Given the description of an element on the screen output the (x, y) to click on. 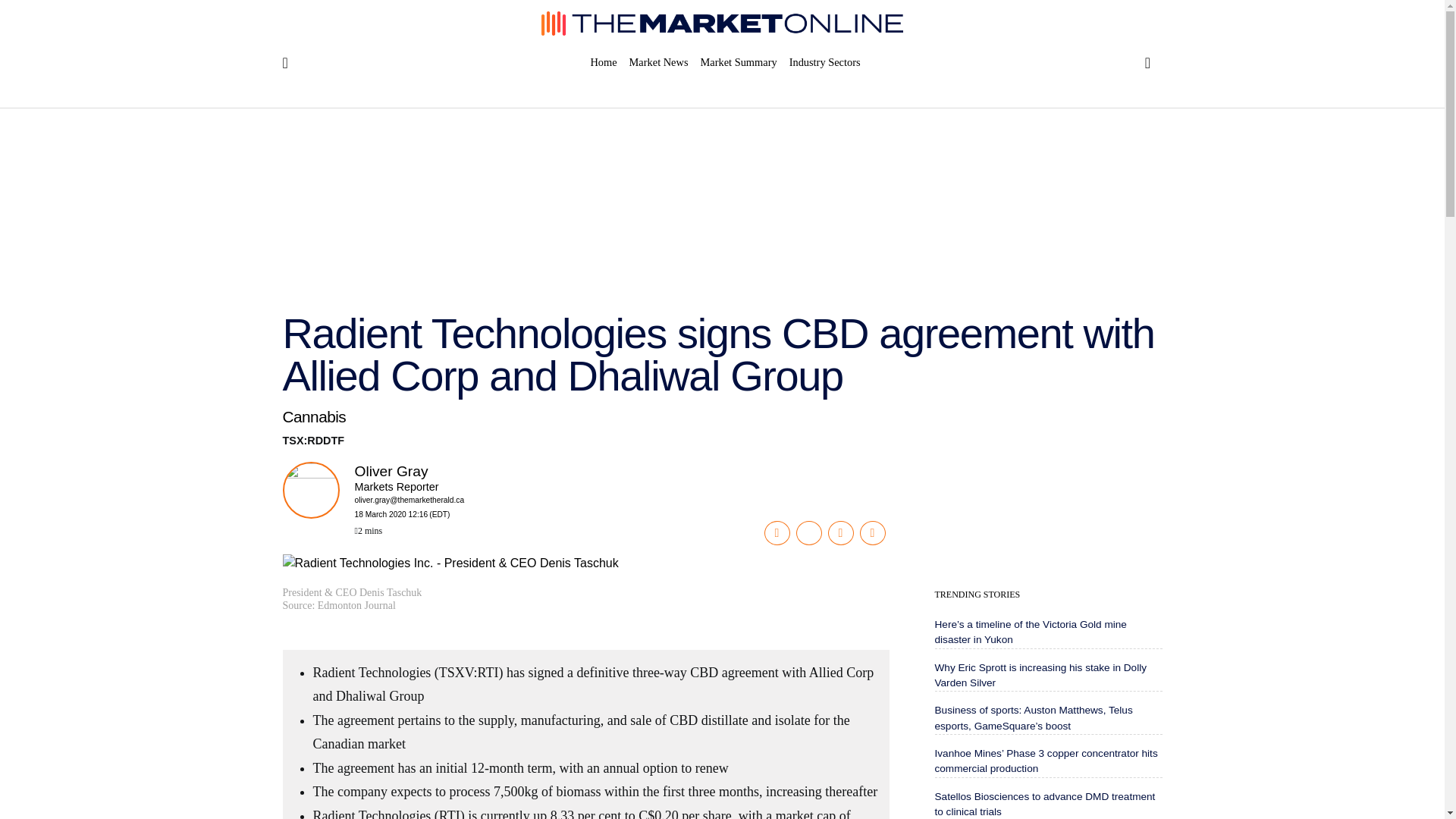
Market Summary (738, 62)
Market News (658, 62)
Home (606, 62)
Industry Sectors (821, 62)
